Given the description of an element on the screen output the (x, y) to click on. 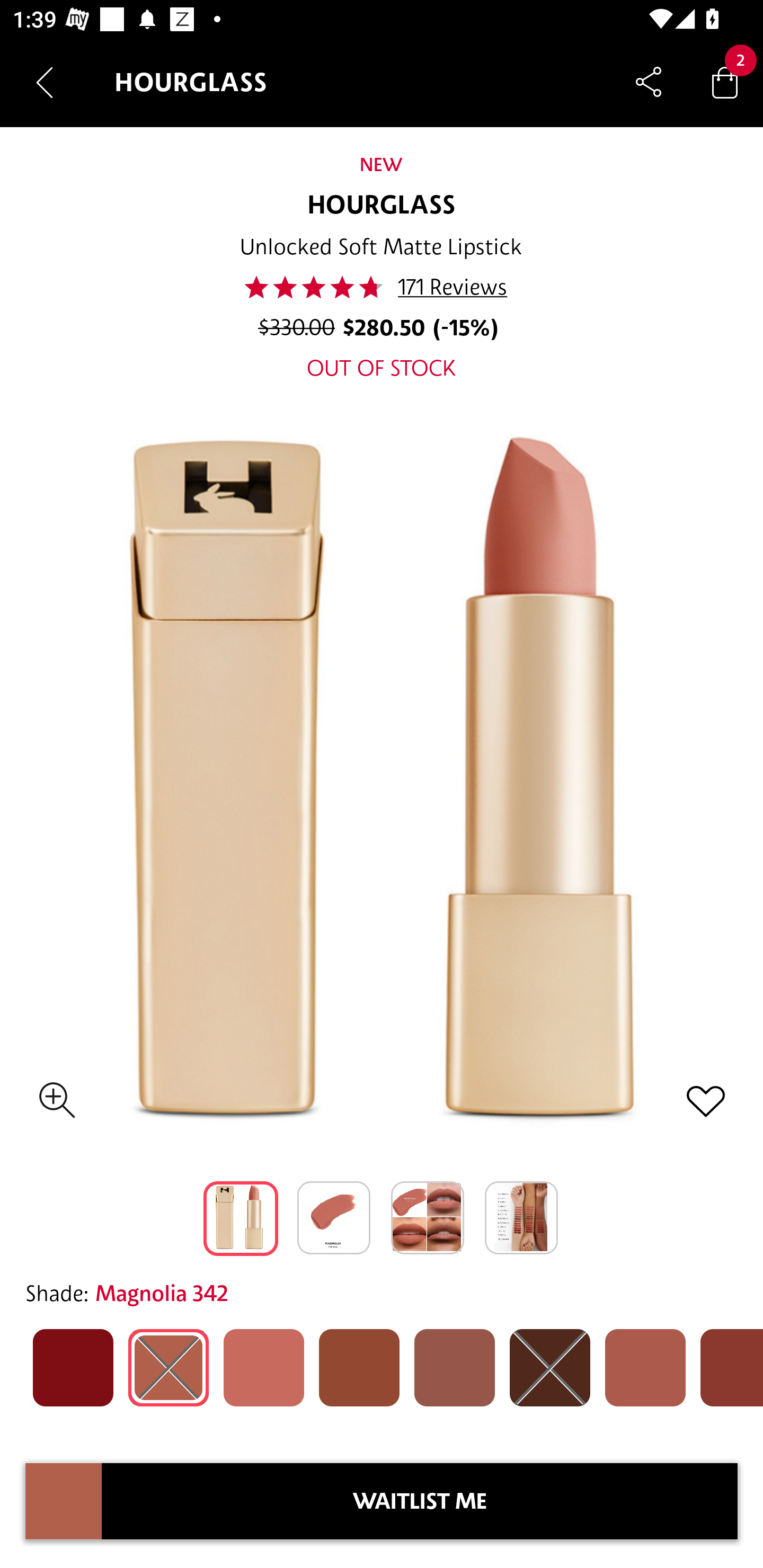
Navigate up (44, 82)
Share (648, 81)
Bag (724, 81)
HOURGLASS (381, 205)
47.0 171 Reviews (380, 286)
WAITLIST ME (419, 1500)
